Given the description of an element on the screen output the (x, y) to click on. 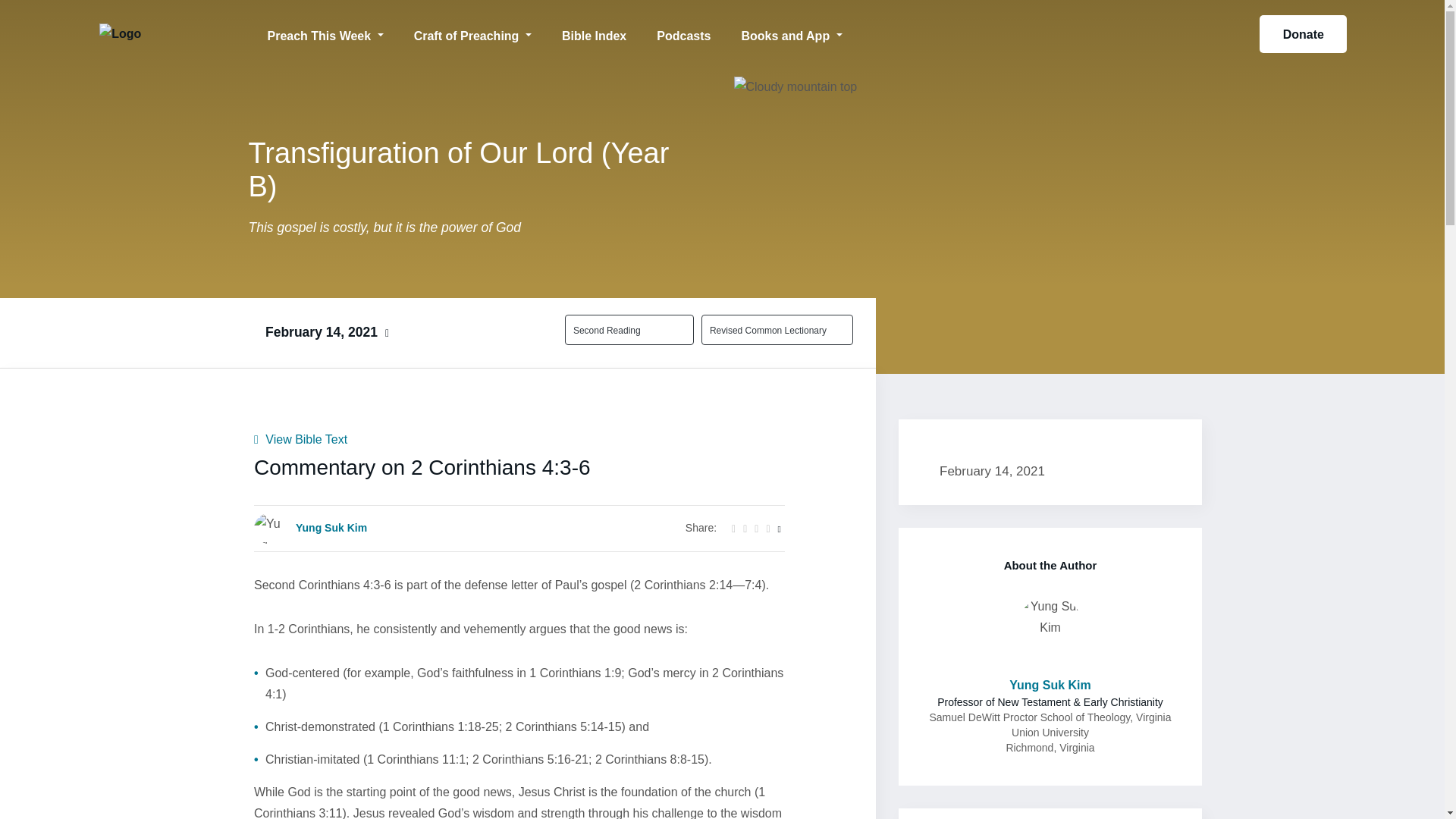
Revised Common Lectionary (768, 329)
Donate (1302, 34)
Second Reading (619, 329)
Podcasts (683, 33)
Preach This Week (324, 33)
Books and App (791, 33)
Bible Index (594, 33)
Preach This Week (324, 33)
Craft of Preaching (472, 33)
Craft of Preaching (472, 33)
